Given the description of an element on the screen output the (x, y) to click on. 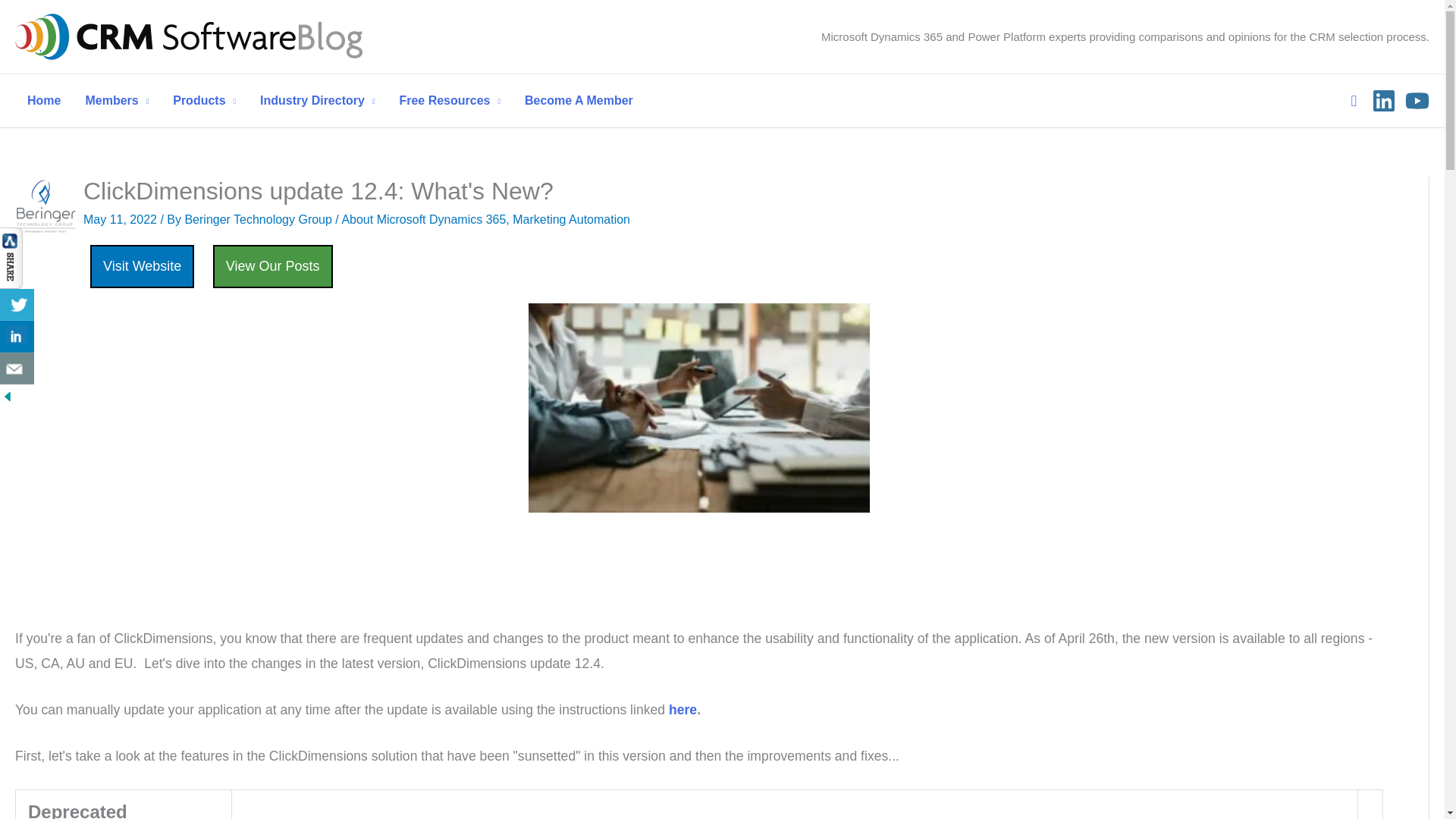
Industry Directory (317, 100)
Home (43, 100)
Products (203, 100)
Members (116, 100)
View all posts by Beringer Technology Group (259, 219)
